Given the description of an element on the screen output the (x, y) to click on. 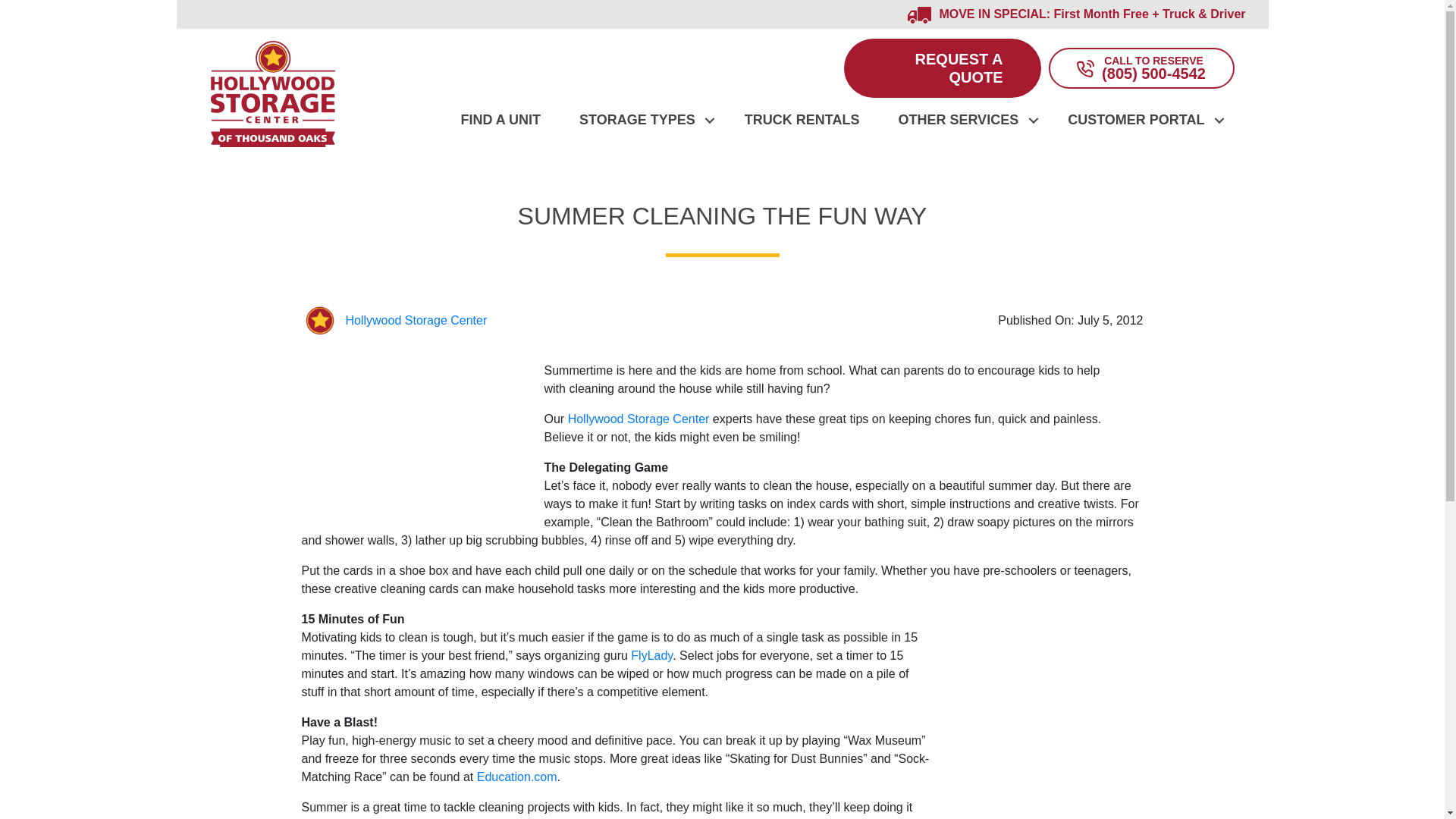
Hollywood Storage Center Experts (640, 418)
Education.com Kid Cleaning Games (517, 776)
STORAGE TYPES (642, 131)
Hollywood Storage Center of Thousand Oaks logo (272, 93)
REQUEST A QUOTE (942, 67)
CUSTOMER PORTAL (1140, 131)
TRUCK RENTALS (802, 131)
FIND A UNIT (500, 131)
OTHER SERVICES (963, 131)
Hollywood Storage Center (416, 319)
FlyLady's Organizational Website (651, 655)
